Given the description of an element on the screen output the (x, y) to click on. 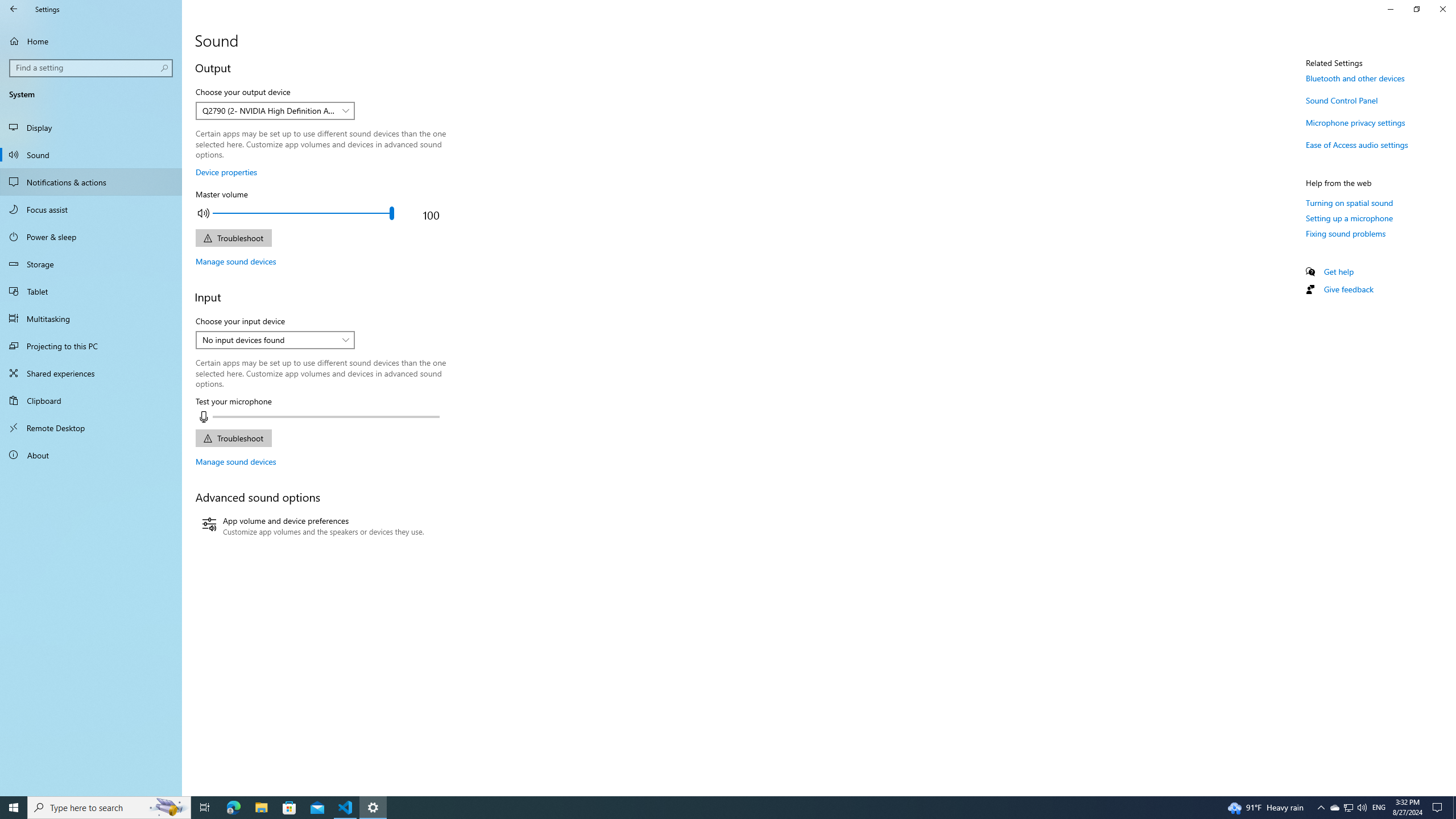
Microsoft Store (289, 807)
Tablet (91, 290)
Choose your output device (275, 110)
File Explorer (261, 807)
Adjust the master output volume (303, 212)
Focus assist (91, 208)
Display (91, 126)
Action Center, No new notifications (1439, 807)
Projecting to this PC (91, 345)
Microsoft Edge (1347, 807)
Output device troubleshoot (233, 807)
Start (233, 237)
Home (13, 807)
